Given the description of an element on the screen output the (x, y) to click on. 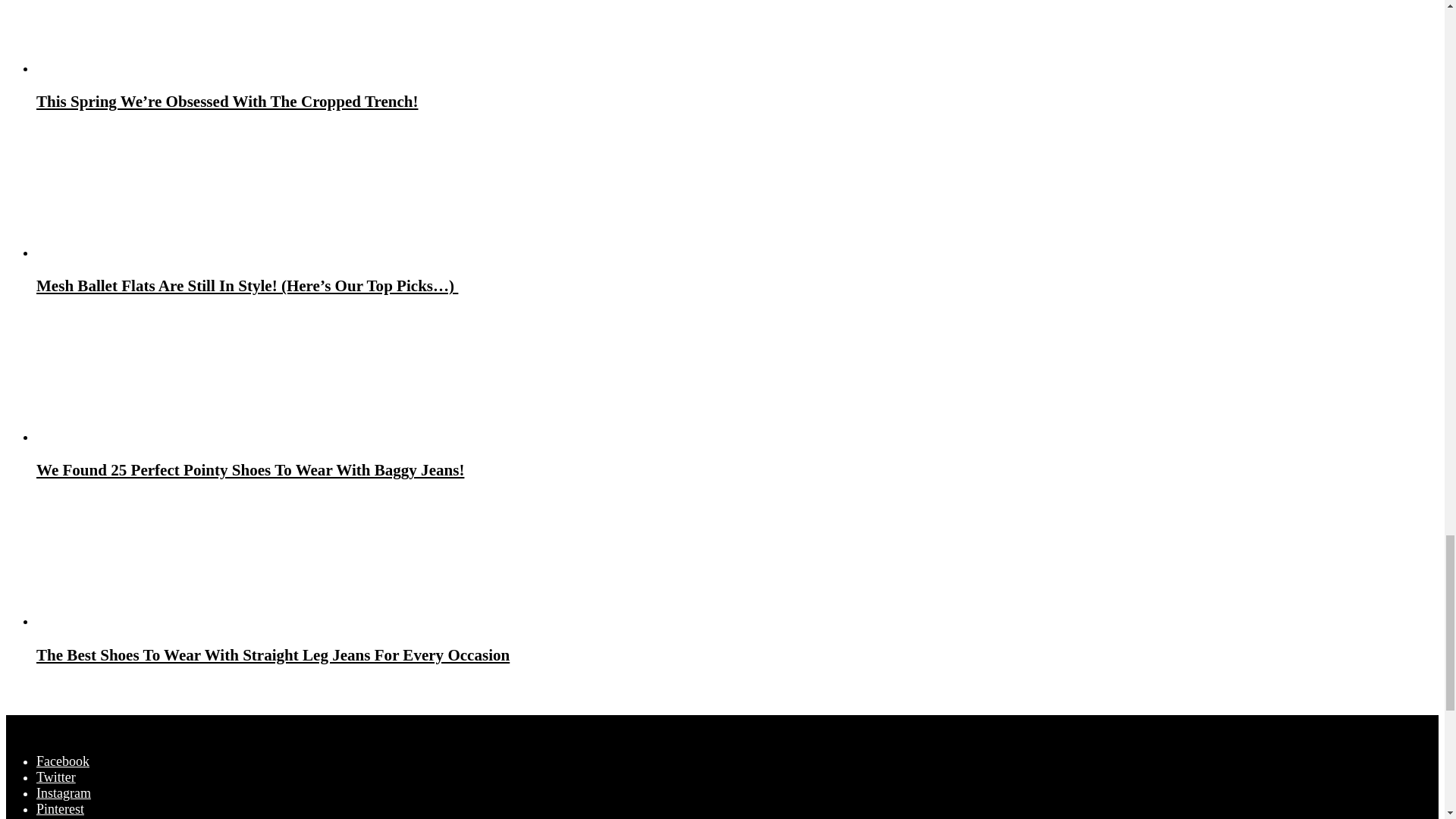
Instagram (63, 792)
Twitter (55, 776)
Pinterest (60, 808)
Facebook (62, 761)
